Given the description of an element on the screen output the (x, y) to click on. 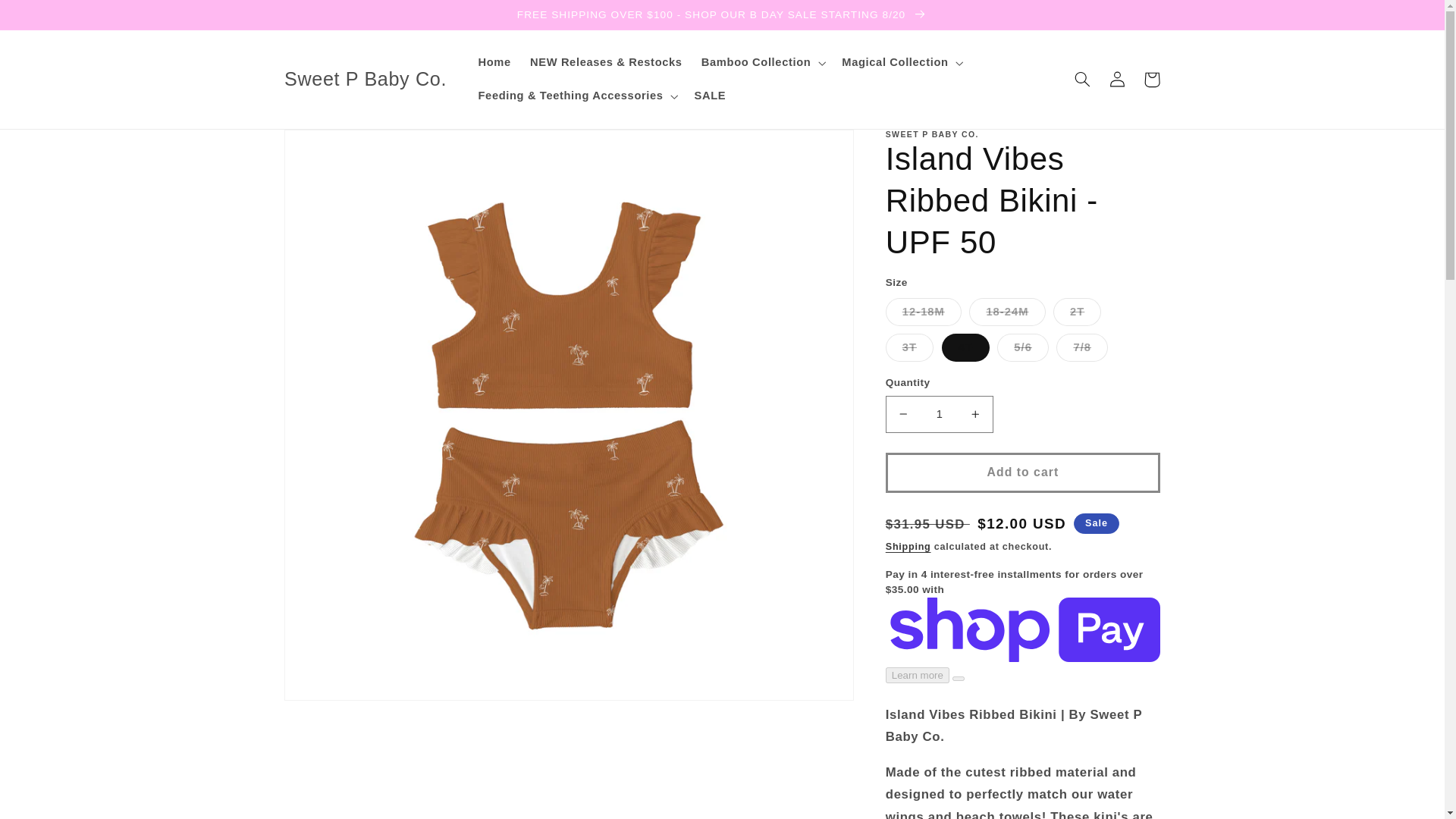
Home (494, 62)
Skip to content (49, 19)
Sweet P Baby Co. (365, 79)
1 (939, 414)
